Given the description of an element on the screen output the (x, y) to click on. 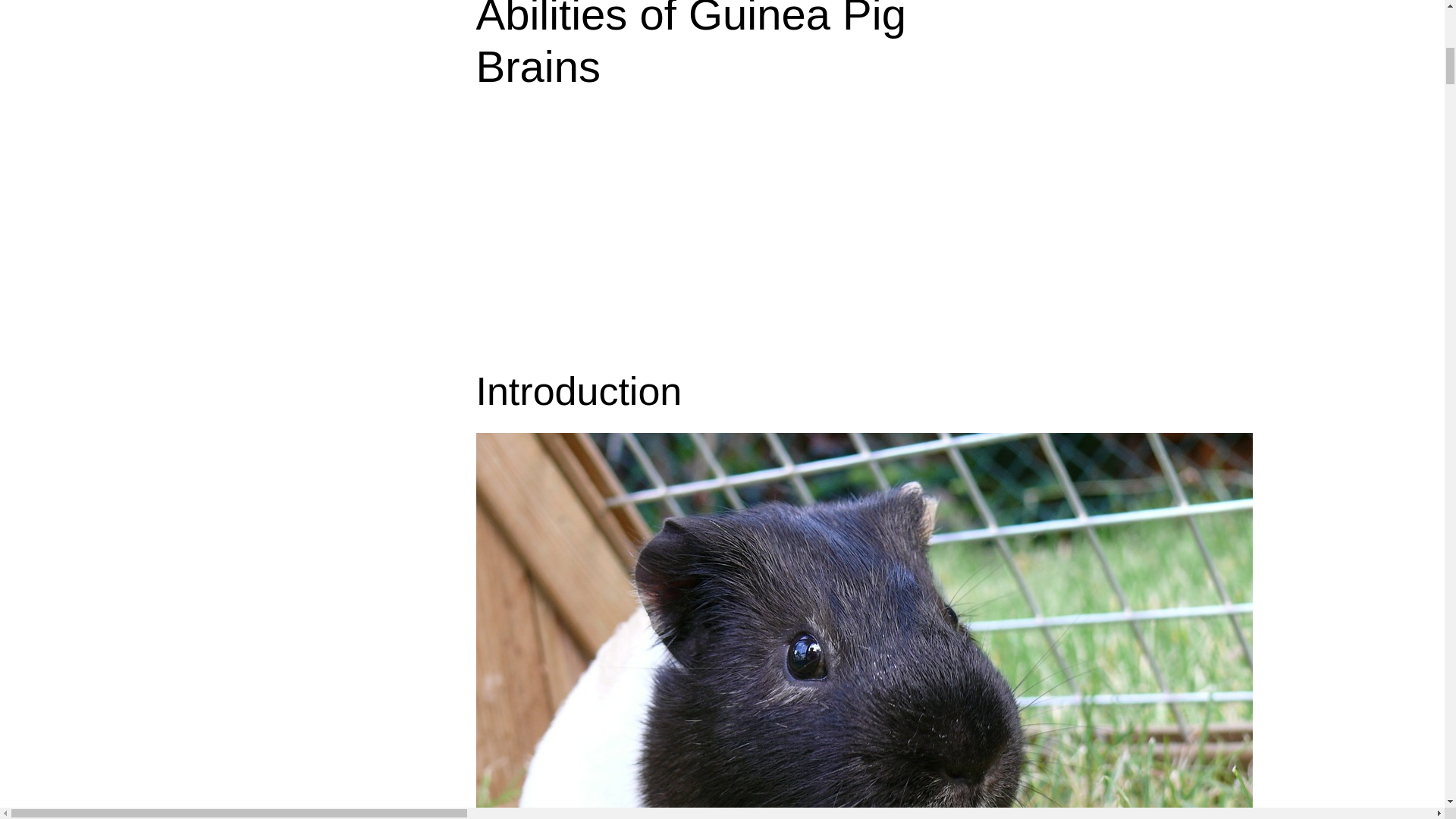
How Smart Are Pet Guinea Pigs? (666, 236)
